Given the description of an element on the screen output the (x, y) to click on. 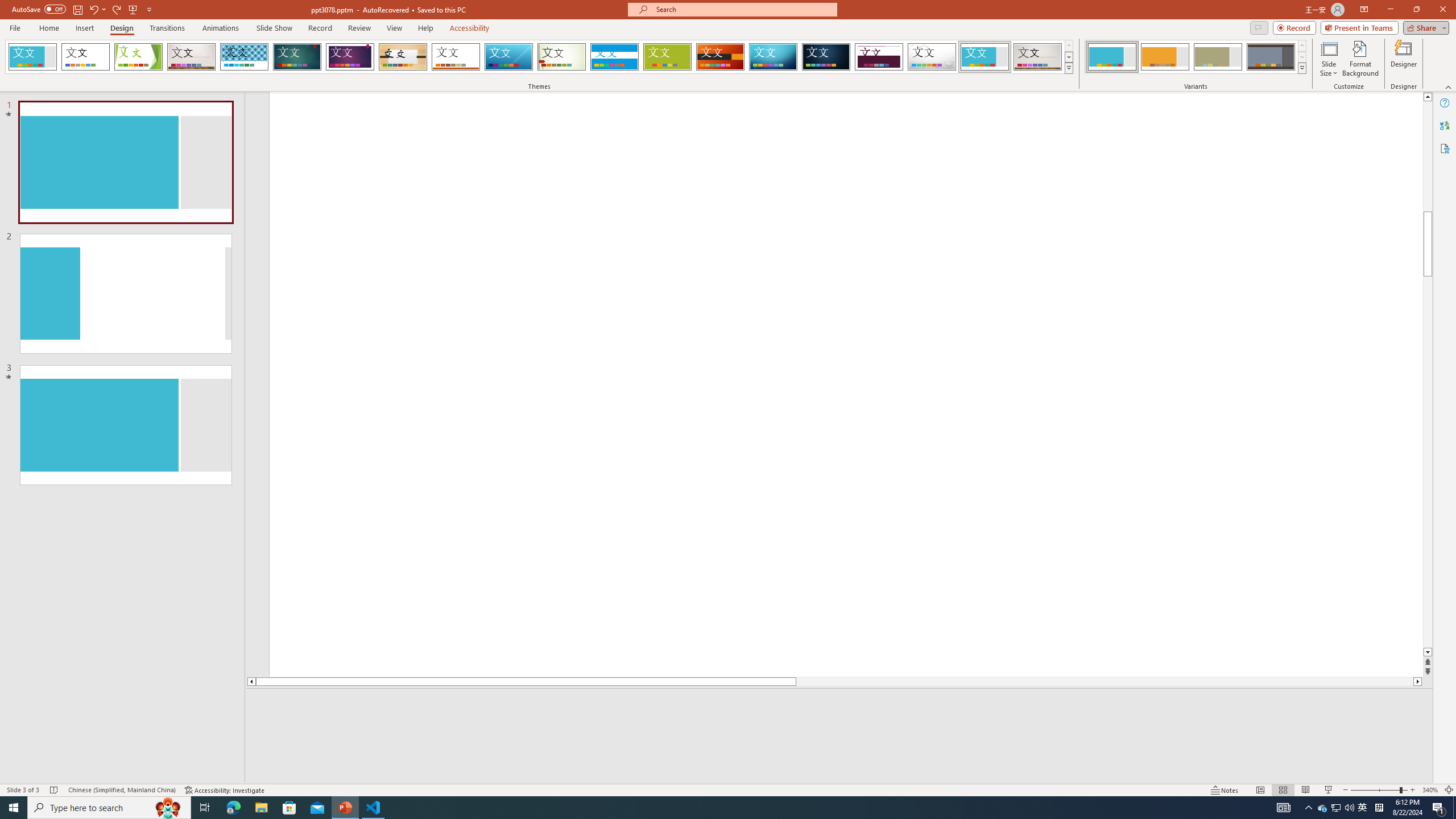
Basis (667, 56)
Zoom 340% (1430, 790)
Ion (296, 56)
Ion Boardroom (350, 56)
Slice (508, 56)
Integral (244, 56)
